Given the description of an element on the screen output the (x, y) to click on. 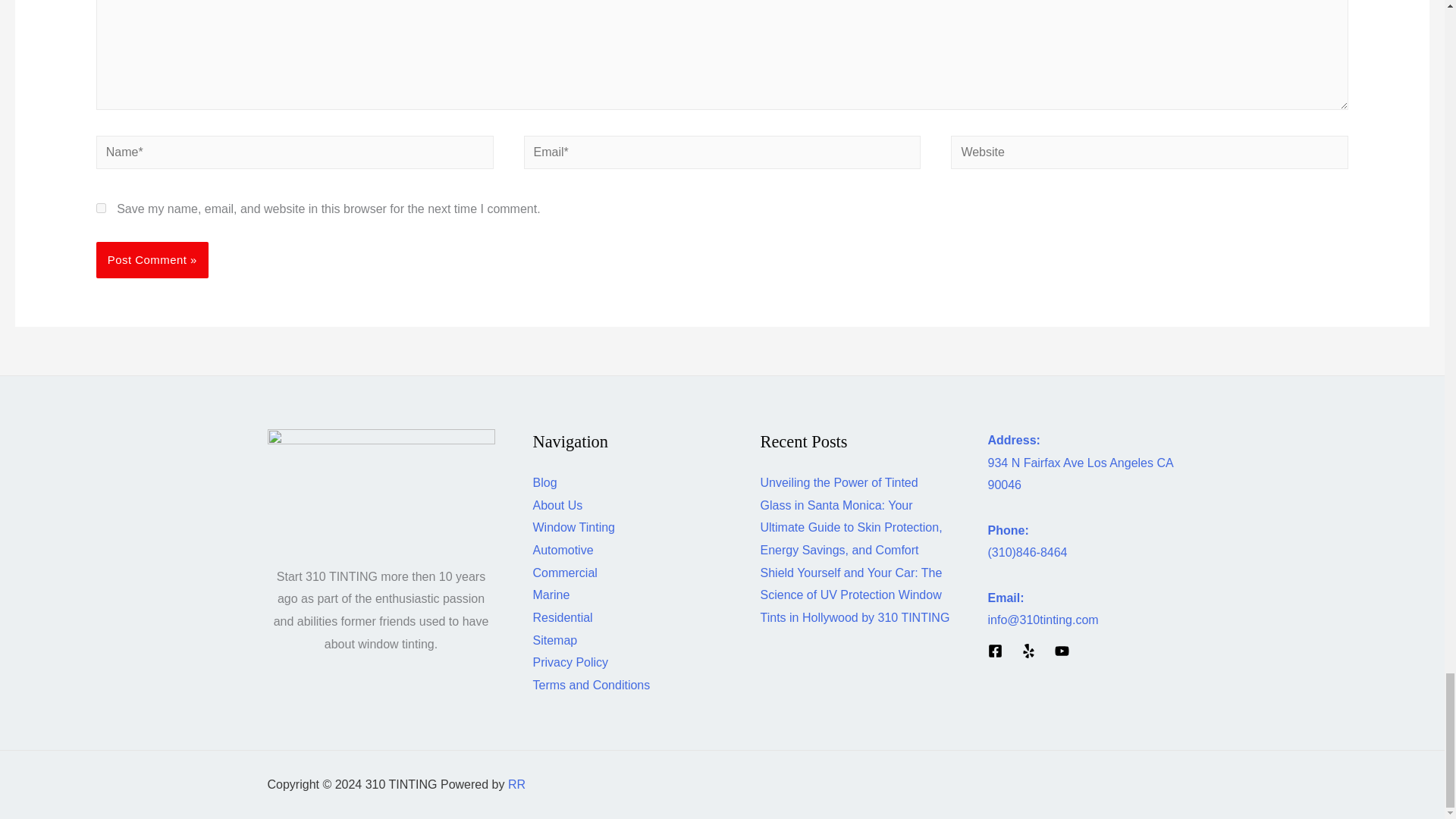
yes (101, 207)
